Given the description of an element on the screen output the (x, y) to click on. 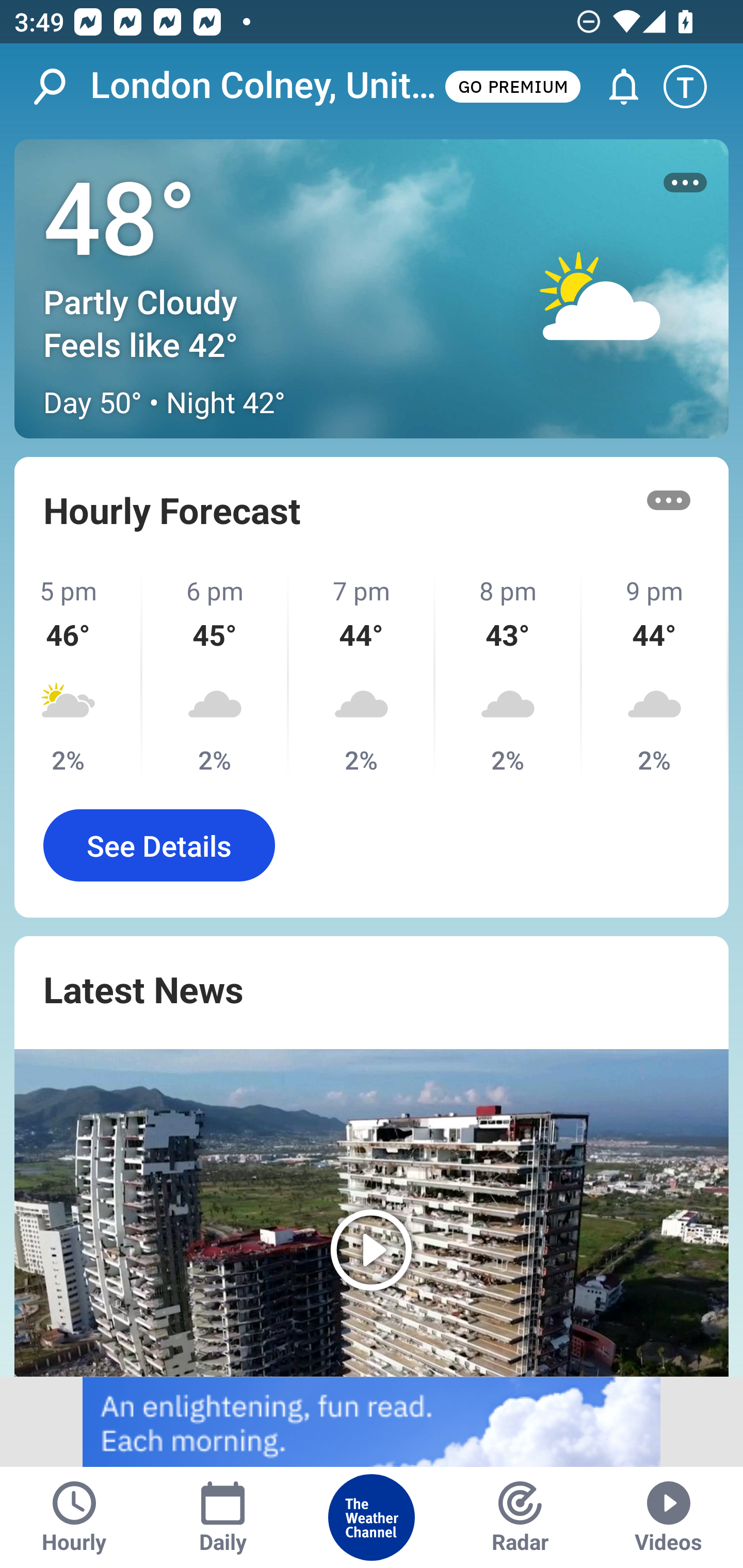
Search (59, 86)
Go to Alerts and Notifications (614, 86)
Setting icon T (694, 86)
London Colney, United Kingdom (265, 85)
GO PREMIUM (512, 85)
More options (684, 182)
More options (668, 500)
5 pm 46° 2% (78, 674)
6 pm 45° 2% (215, 674)
7 pm 44° 2% (362, 674)
8 pm 43° 2% (508, 674)
9 pm 44° 2% (654, 674)
See Details (158, 845)
Play (371, 1212)
newsletter?cm_ven=House_NewsletterCloud_11072022_1 (371, 1421)
Hourly Tab Hourly (74, 1517)
Daily Tab Daily (222, 1517)
Radar Tab Radar (519, 1517)
Videos Tab Videos (668, 1517)
